Given the description of an element on the screen output the (x, y) to click on. 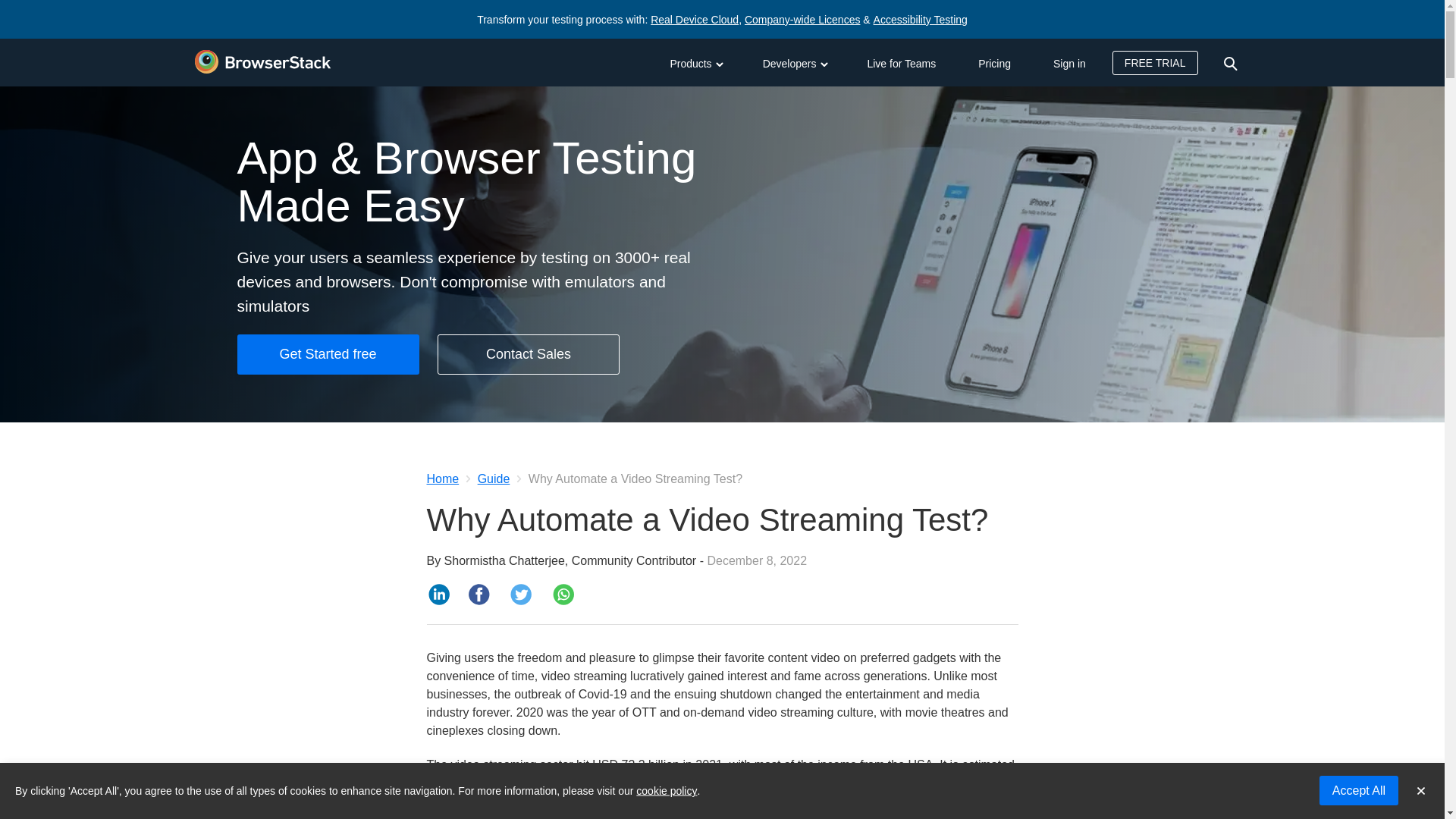
Real Device Cloud (694, 19)
cookie policy (666, 790)
Accept All (1358, 790)
Company-wide Licences (802, 19)
Accessibility Testing (920, 19)
BrowserStack Logo (261, 61)
Products (694, 62)
